Given the description of an element on the screen output the (x, y) to click on. 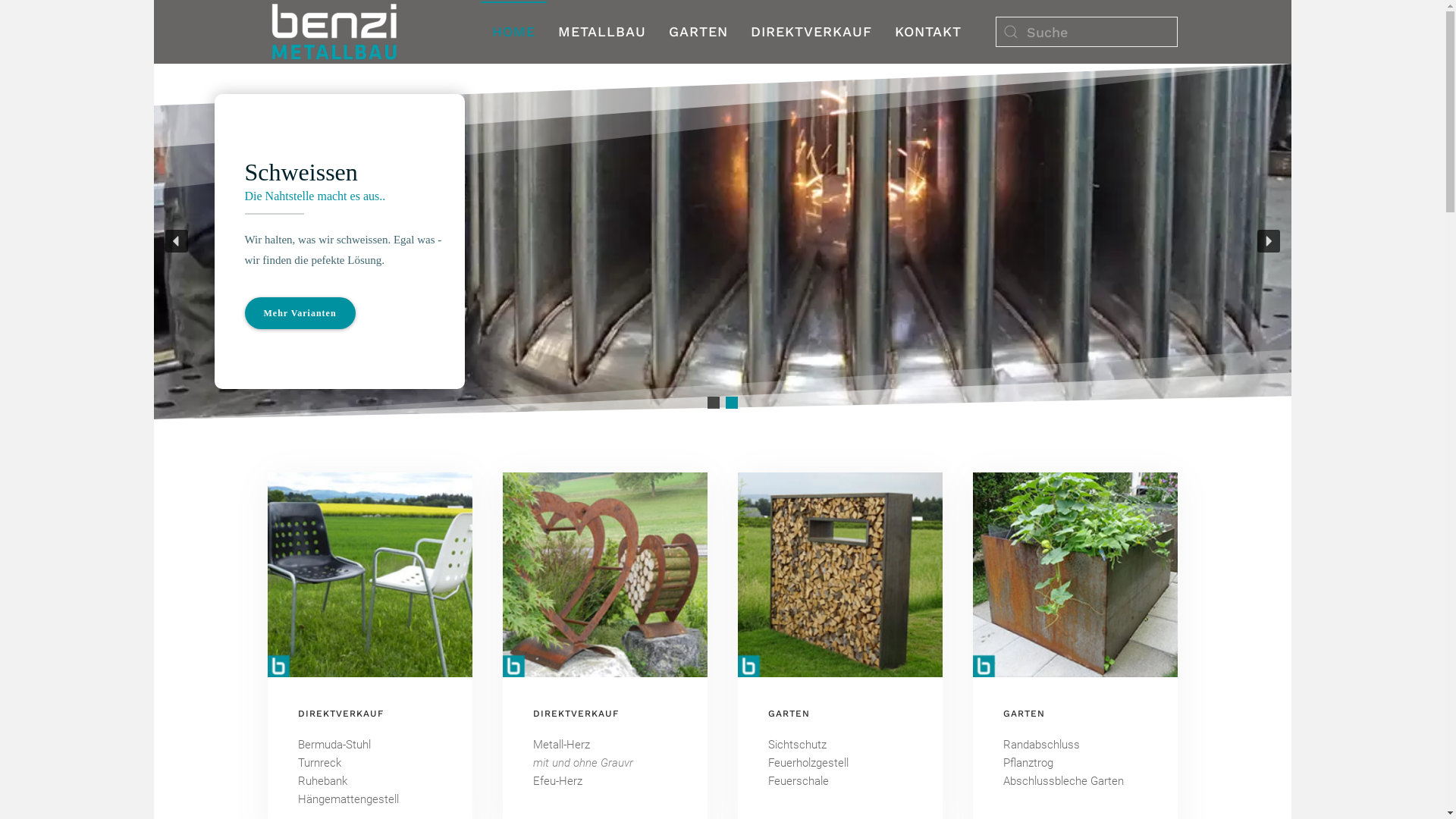
GARTEN Element type: text (697, 31)
METALLBAU Element type: text (601, 31)
HOME Element type: text (513, 31)
KONTAKT Element type: text (927, 31)
DIREKTVERKAUF Element type: text (810, 31)
Mehr Varianten Element type: text (299, 313)
